Given the description of an element on the screen output the (x, y) to click on. 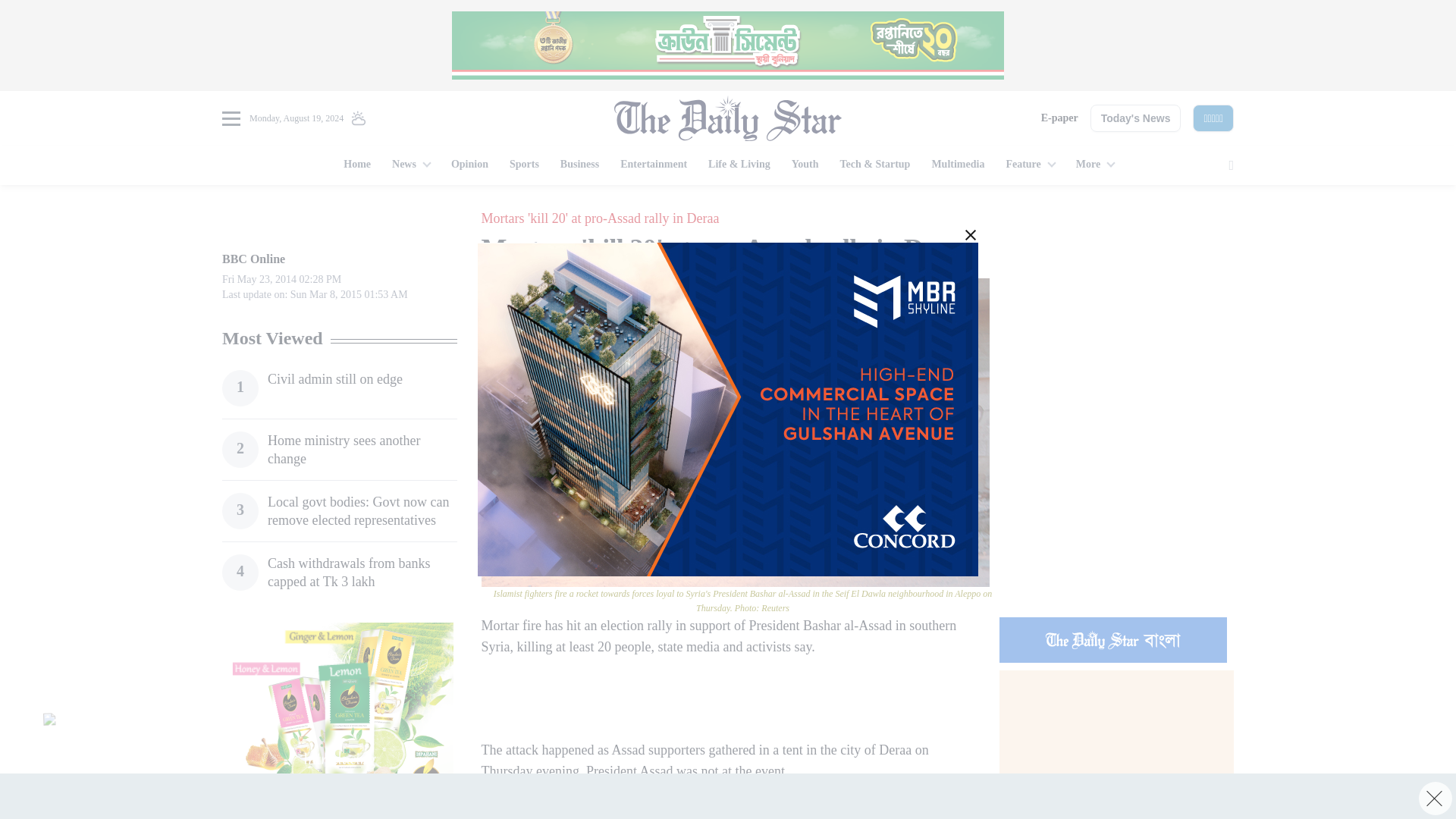
3rd party ad content (338, 717)
3rd party ad content (727, 796)
3rd party ad content (1116, 302)
E-paper (1059, 117)
Entertainment (653, 165)
Business (579, 165)
Home (357, 165)
Today's News (1135, 117)
Feature (1028, 165)
3rd party ad content (720, 700)
